Given the description of an element on the screen output the (x, y) to click on. 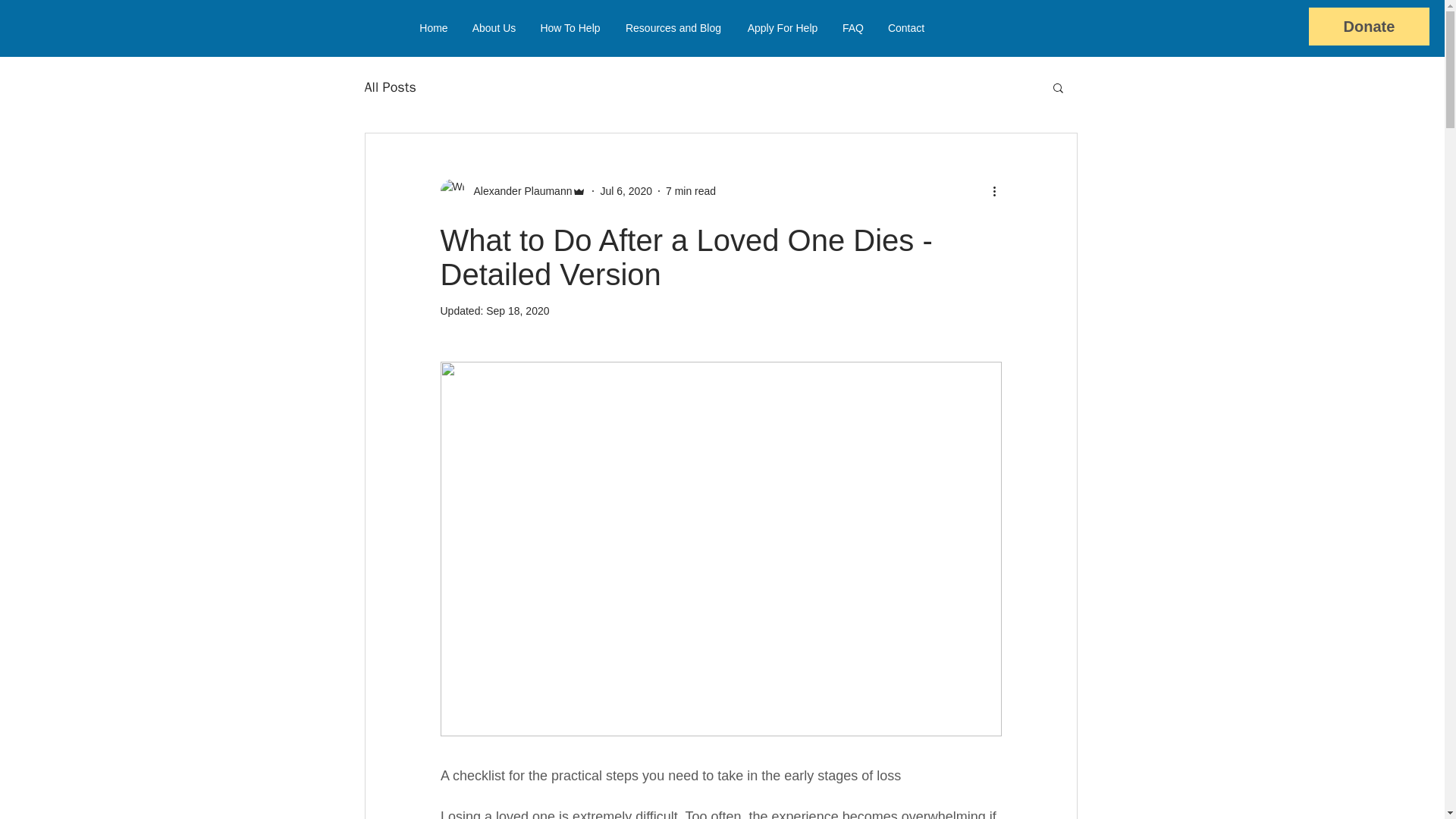
Contact (905, 28)
Apply For Help (781, 28)
How To Help (569, 28)
All Posts (389, 86)
Donate (1368, 26)
Sep 18, 2020 (517, 310)
FAQ (852, 28)
7 min read (690, 191)
Jul 6, 2020 (625, 191)
About Us (493, 28)
Home (433, 28)
Alexander Plaumann (518, 191)
Alexander Plaumann (512, 191)
Resources and Blog (672, 28)
